Given the description of an element on the screen output the (x, y) to click on. 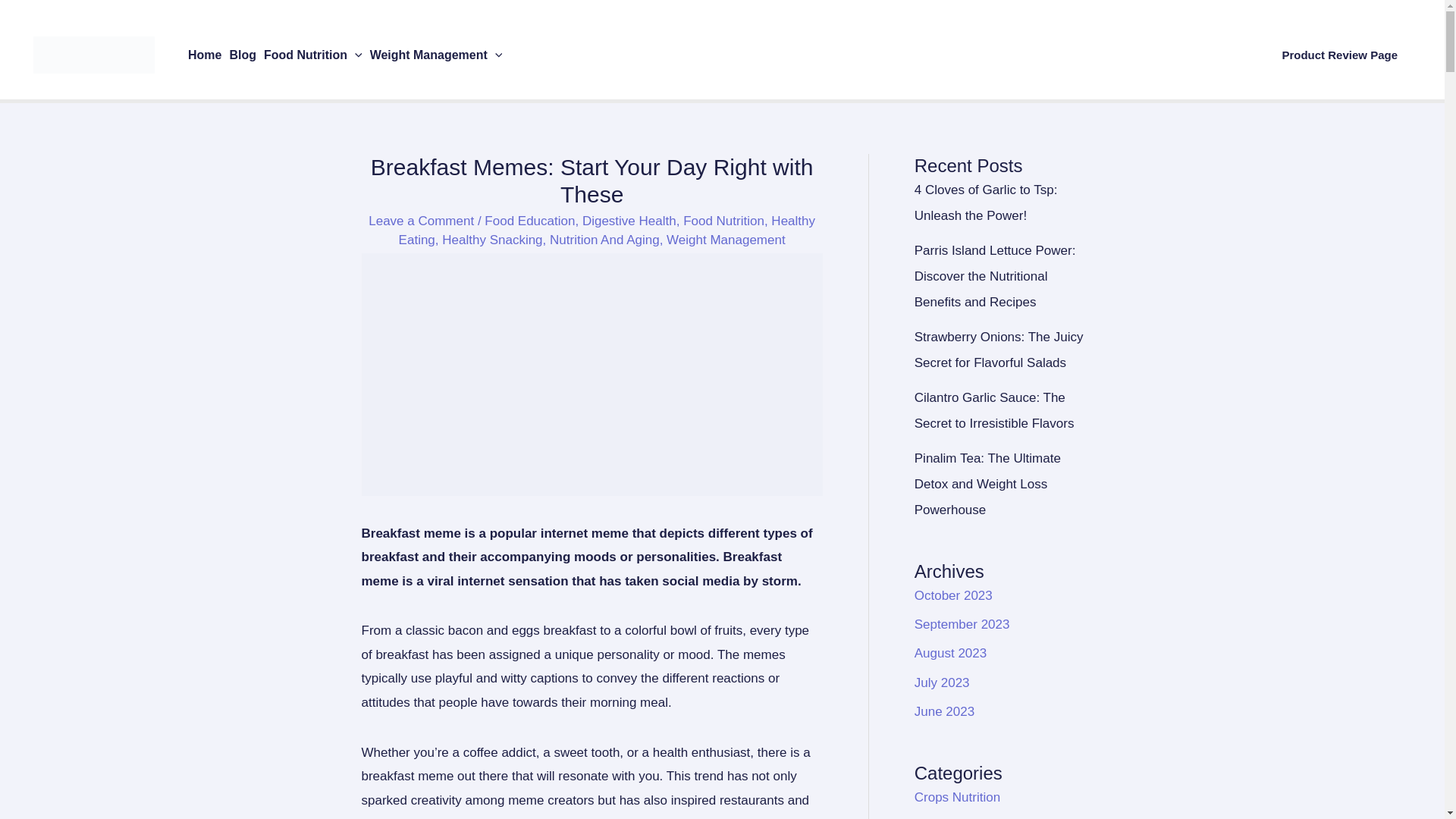
Food Education (529, 220)
Product Review Page (1339, 55)
Leave a Comment (421, 220)
Food Nutrition (313, 55)
Weight Management (436, 55)
